Given the description of an element on the screen output the (x, y) to click on. 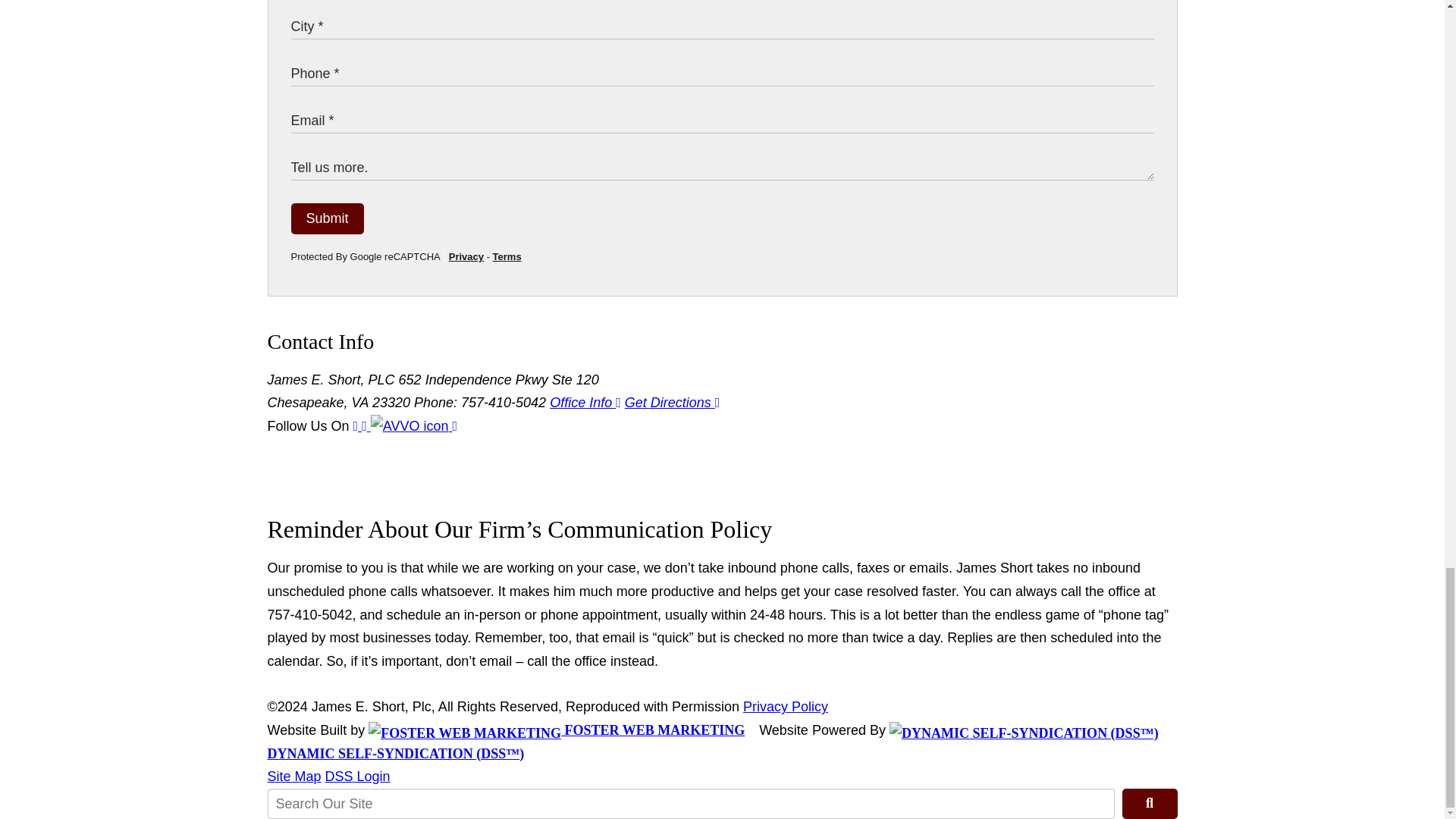
Submit (327, 218)
Terms (507, 256)
Privacy (465, 256)
Get Directions (672, 402)
Privacy Policy (785, 706)
Office Info (585, 402)
